Given the description of an element on the screen output the (x, y) to click on. 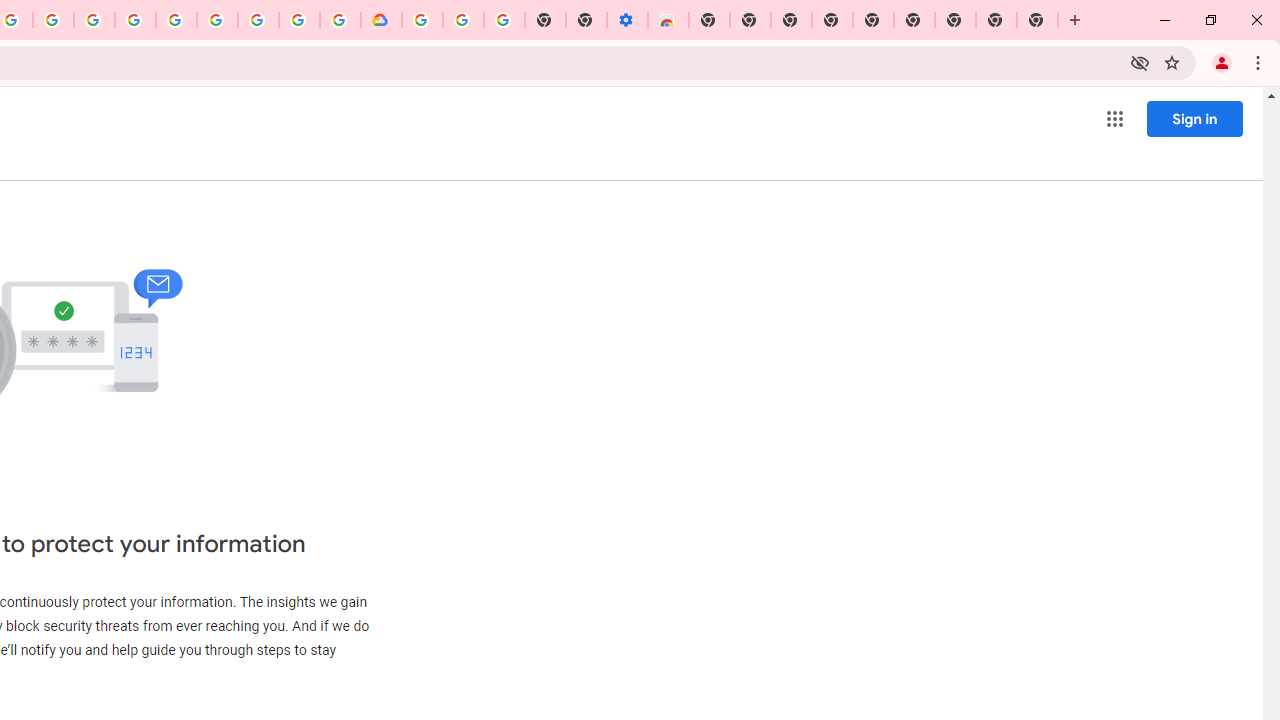
Sign in - Google Accounts (421, 20)
Google Account Help (462, 20)
Sign in - Google Accounts (176, 20)
Settings - Accessibility (626, 20)
New Tab (708, 20)
Create your Google Account (53, 20)
Ad Settings (135, 20)
Google Account Help (217, 20)
